Given the description of an element on the screen output the (x, y) to click on. 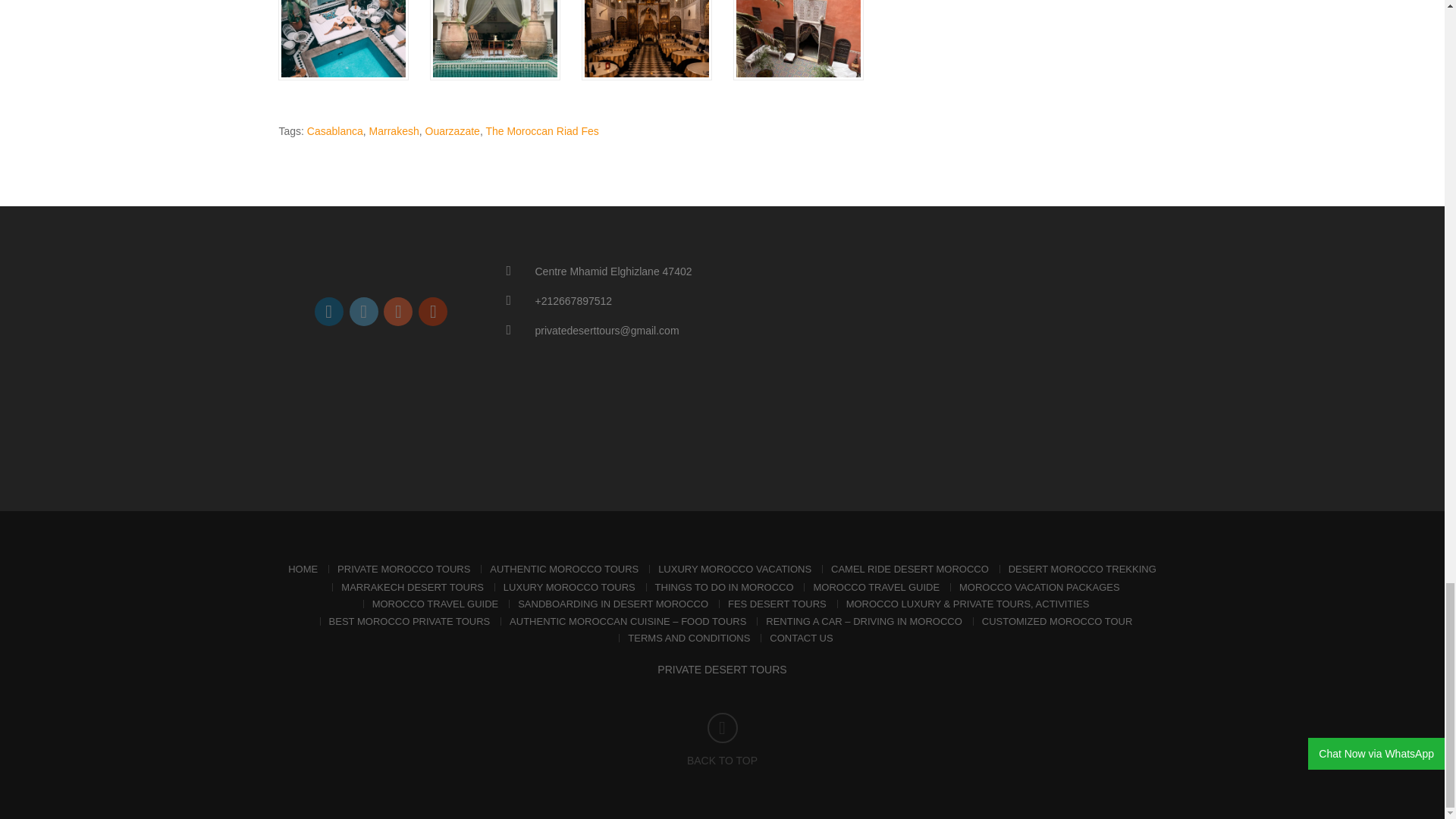
google plus (398, 311)
twitter (363, 311)
facebook (328, 311)
